Given the description of an element on the screen output the (x, y) to click on. 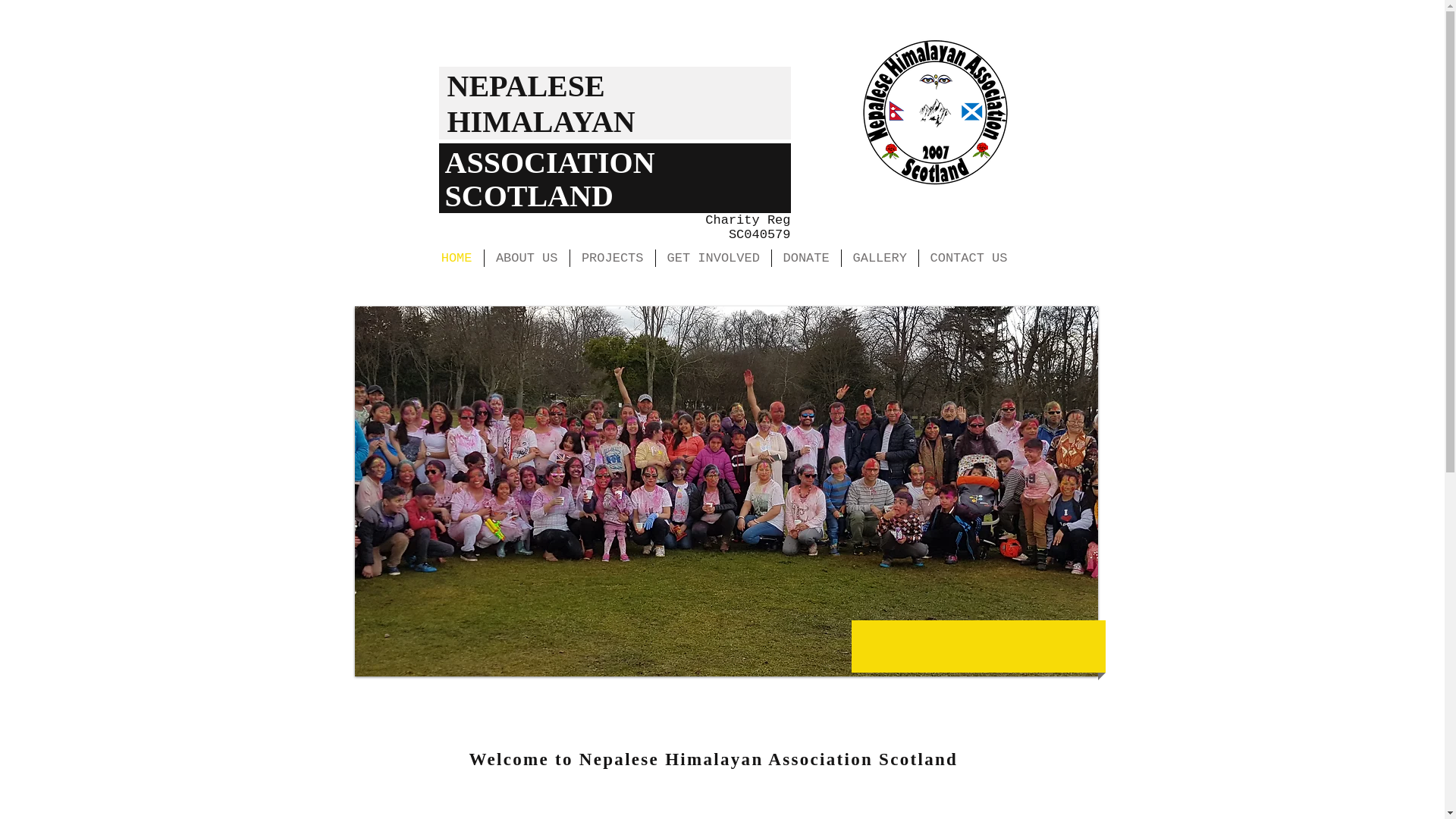
GET INVOLVED (712, 257)
GALLERY (879, 257)
ABOUT US (526, 257)
DONATE (806, 257)
HOME (456, 257)
CONTACT US (968, 257)
PROJECTS (612, 257)
